Given the description of an element on the screen output the (x, y) to click on. 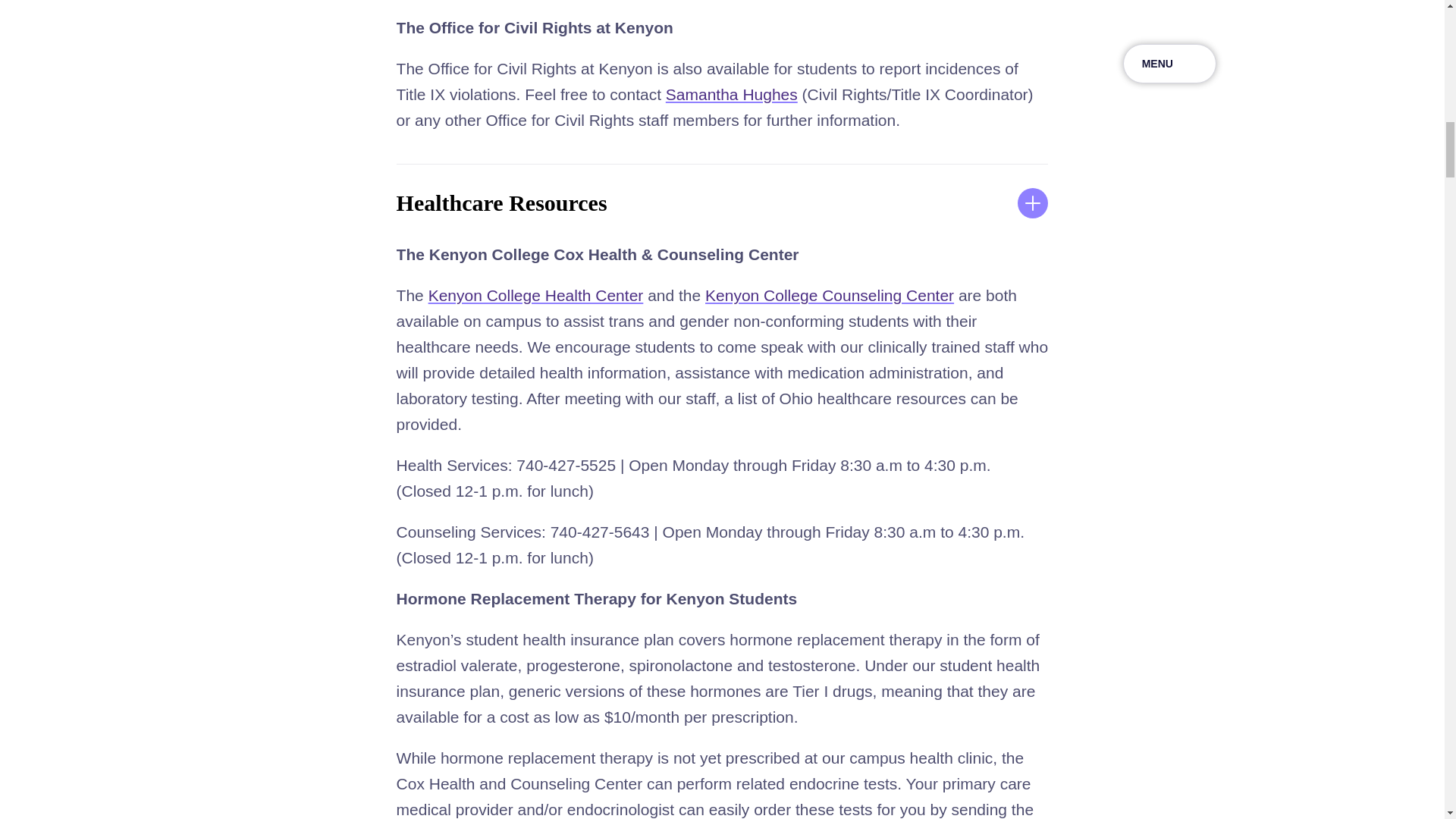
Samantha Hughes (731, 94)
Healthcare Resources (722, 202)
Kenyon College Counseling Center (828, 294)
Kenyon College Health Center (535, 294)
